Given the description of an element on the screen output the (x, y) to click on. 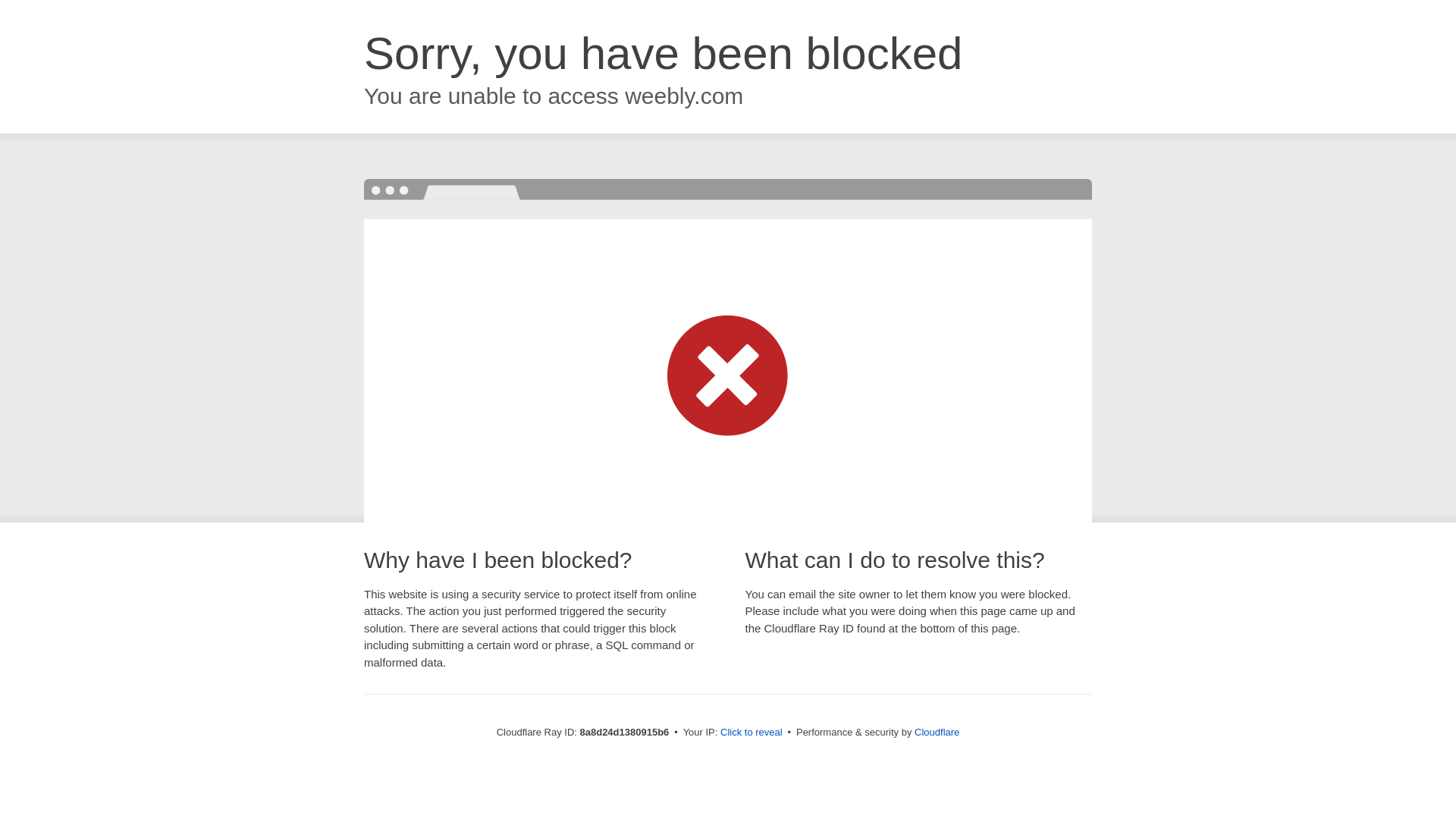
Cloudflare (936, 731)
Click to reveal (751, 732)
